Given the description of an element on the screen output the (x, y) to click on. 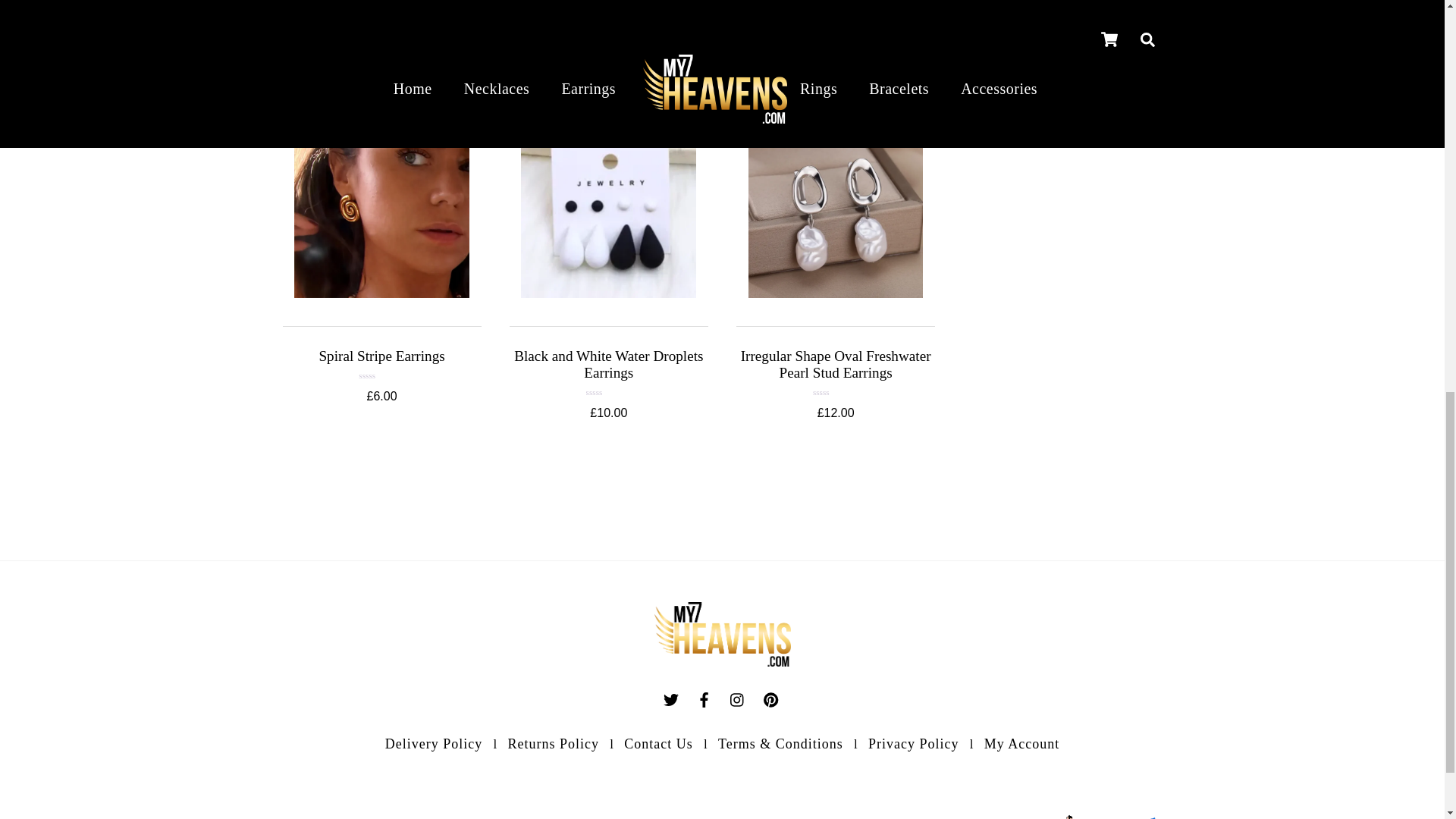
My7Heavens (721, 661)
Irregular Shape Oval Freshwater Pearl Stud Earrings (836, 364)
Snob Monkey Ltd (1068, 816)
Black and White Water Droplets Earrings (608, 364)
Footer Logo (721, 633)
SnobHost (1151, 816)
Spiral Stripe Earrings (381, 355)
C225F161-9AFF-47FA-B0F3-62CC908D0E57 (835, 210)
4359C26C-103D-4133-9274-1A9DC0F54B70 (381, 210)
